Given the description of an element on the screen output the (x, y) to click on. 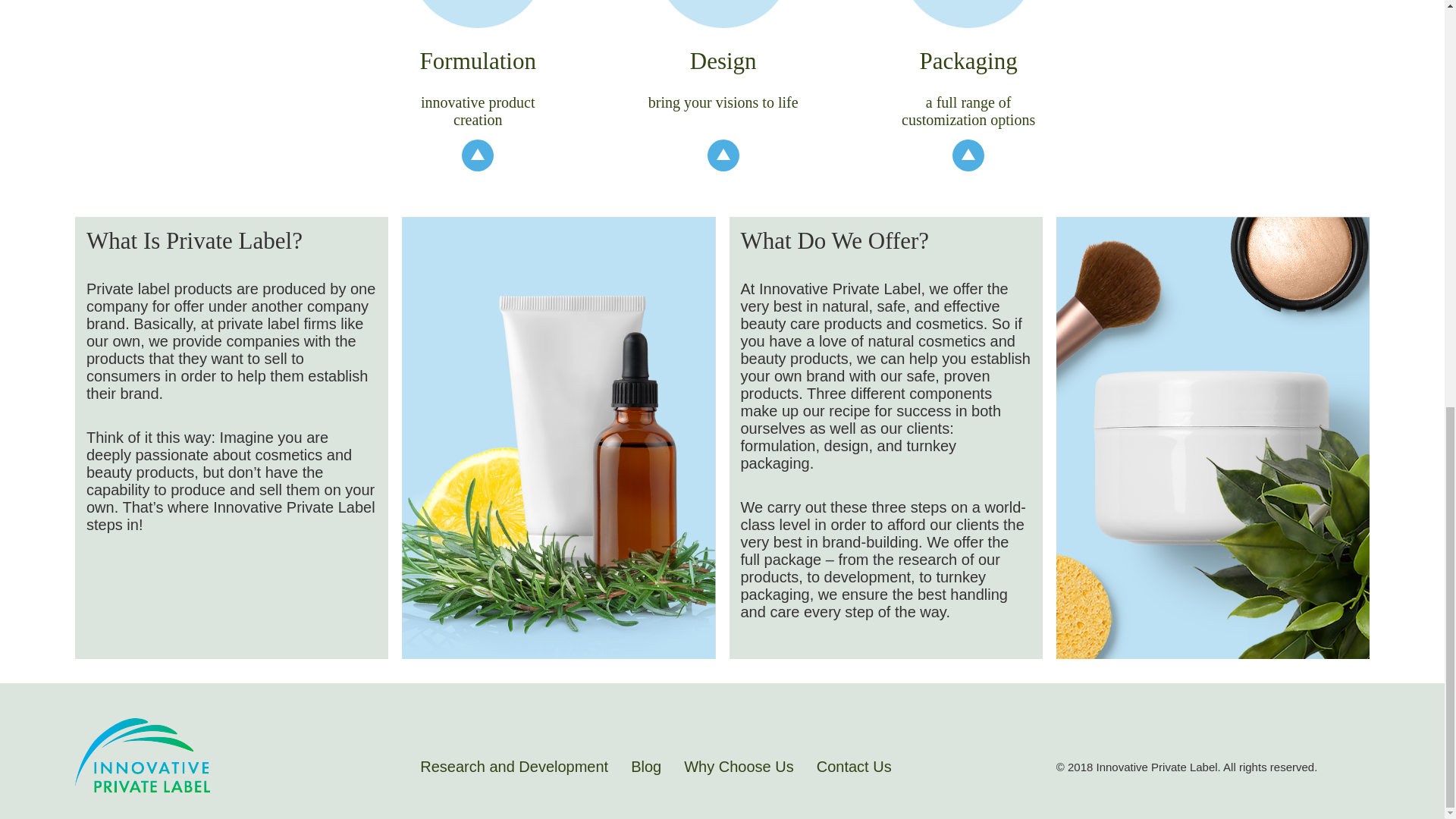
Why Choose Us (738, 766)
Research and Development (514, 766)
Contact Us (853, 766)
Contact Us (853, 766)
Why Choose Us (738, 766)
Research and Development (514, 766)
Blog (646, 766)
Blog (646, 766)
